Given the description of an element on the screen output the (x, y) to click on. 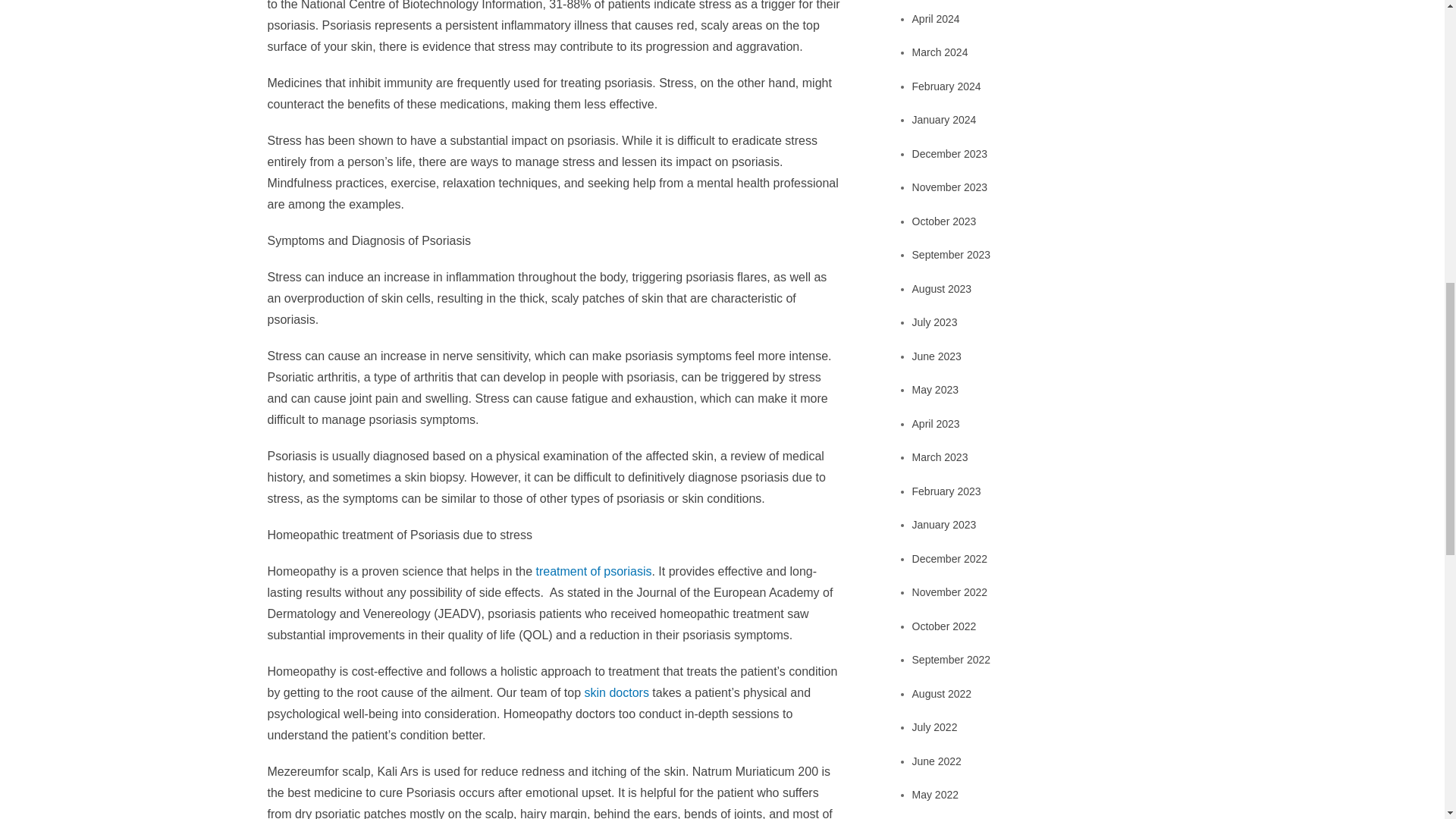
January 2024 (944, 119)
December 2023 (950, 153)
skin doctors (617, 692)
March 2024 (940, 51)
April 2024 (935, 19)
treatment of psoriasis (592, 571)
February 2024 (946, 86)
